Given the description of an element on the screen output the (x, y) to click on. 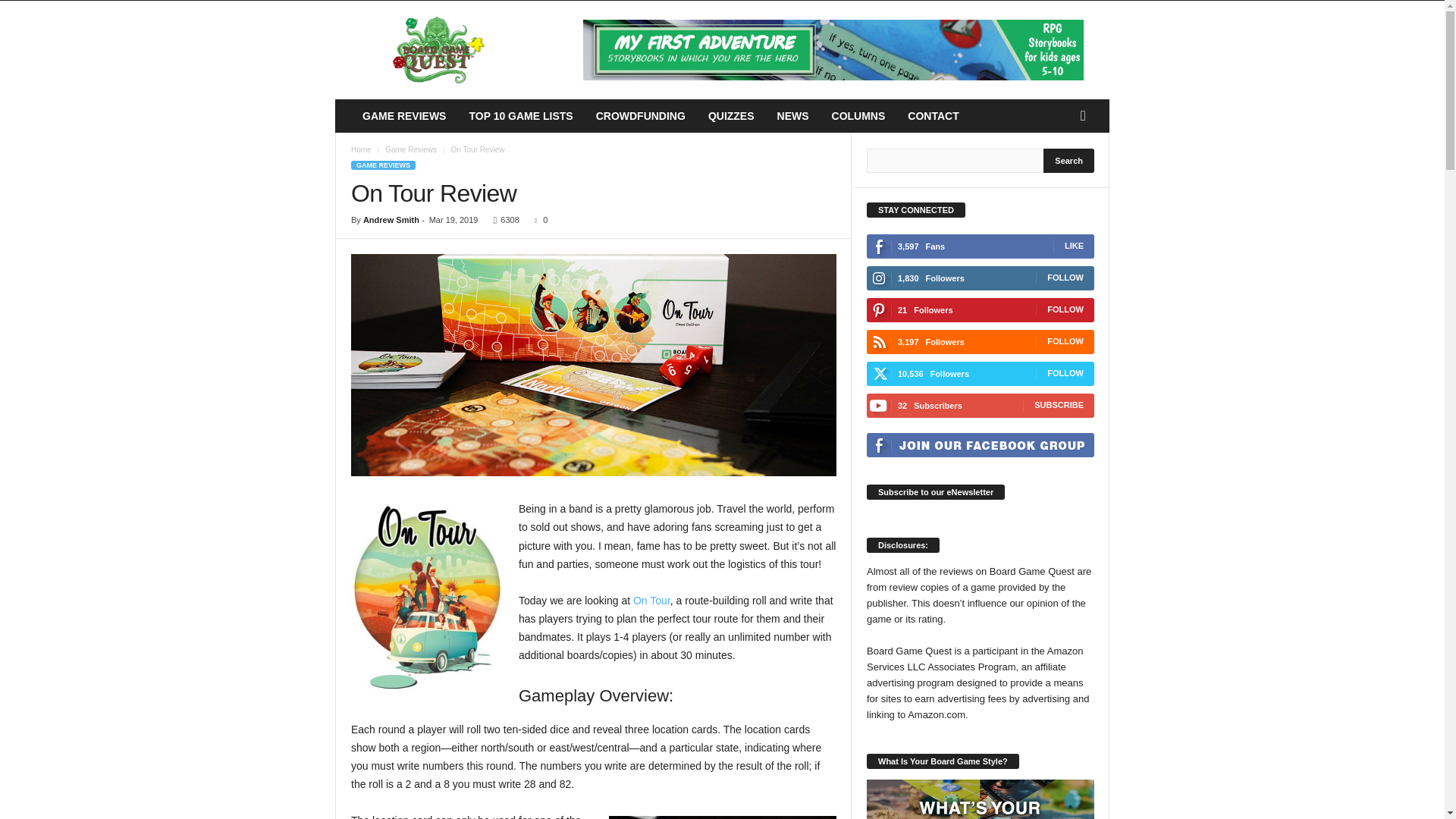
GAME REVIEWS (403, 115)
Search (1068, 160)
Board Game Quest (437, 49)
